Given the description of an element on the screen output the (x, y) to click on. 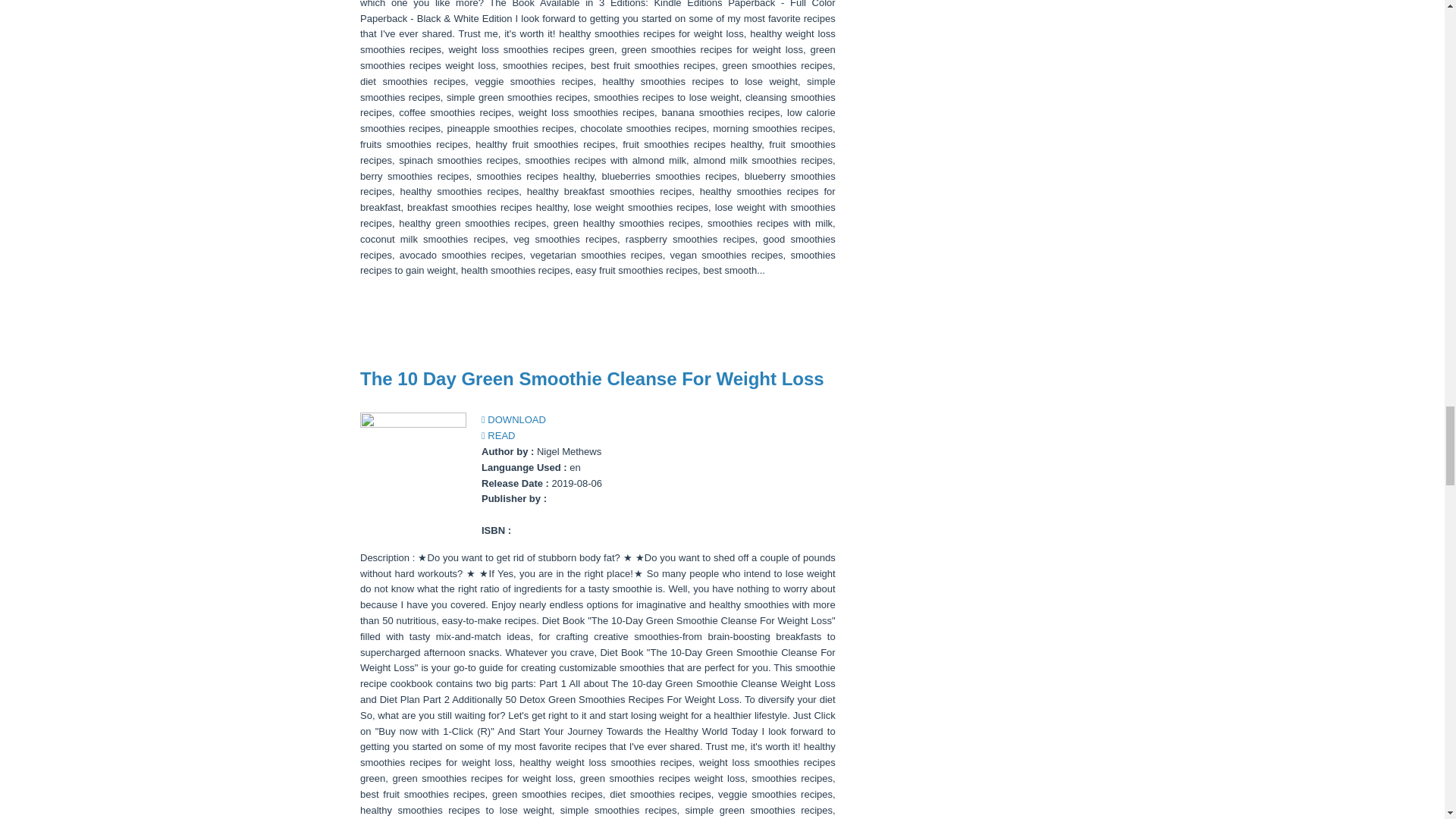
The 10 Day Green Smoothie Cleanse For Weight Loss (591, 378)
READ (498, 435)
DOWNLOAD (513, 419)
The 10 Day Green Smoothie Cleanse For Weight Loss (591, 378)
